Given the description of an element on the screen output the (x, y) to click on. 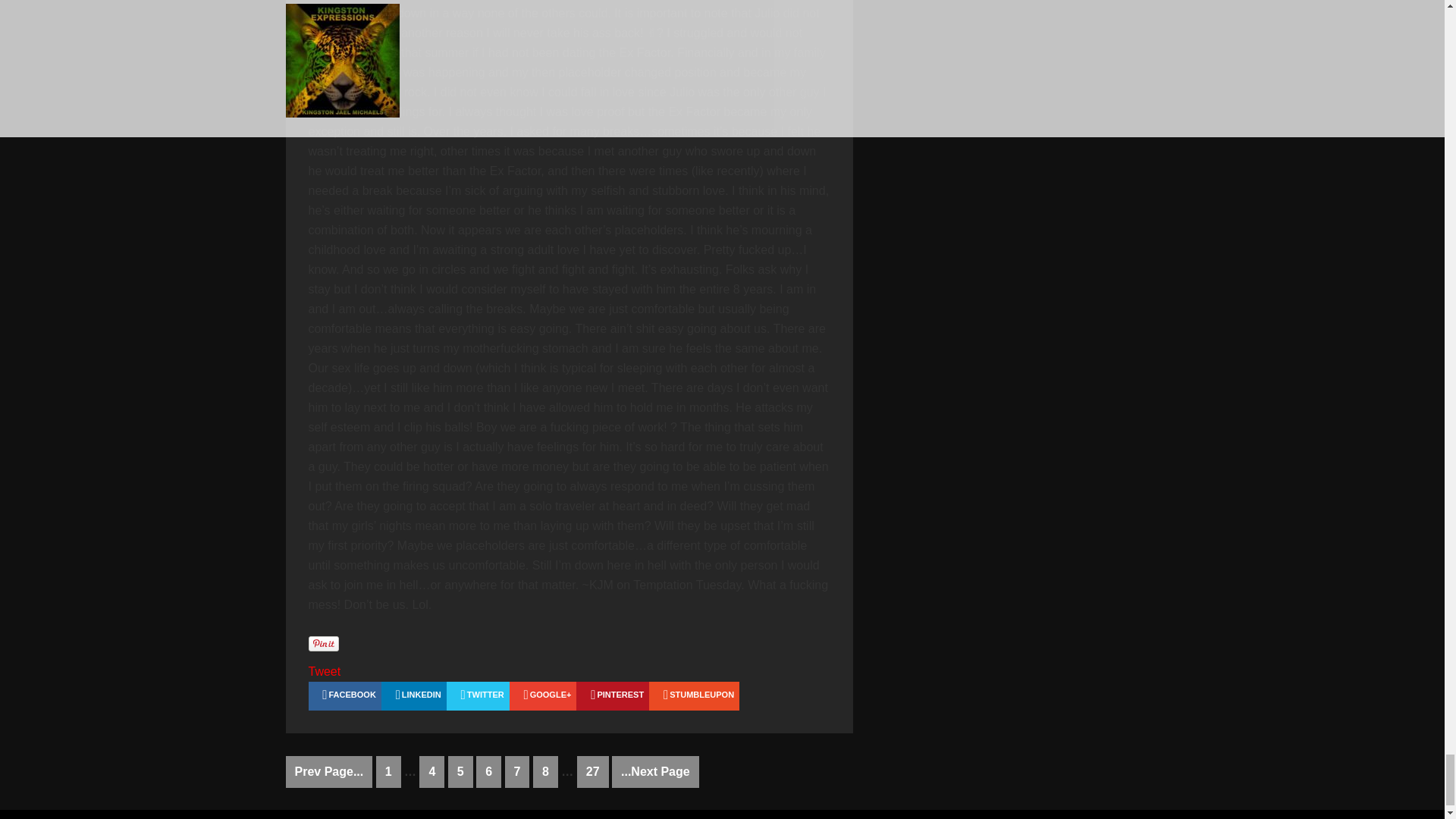
Pin It (322, 643)
